Given the description of an element on the screen output the (x, y) to click on. 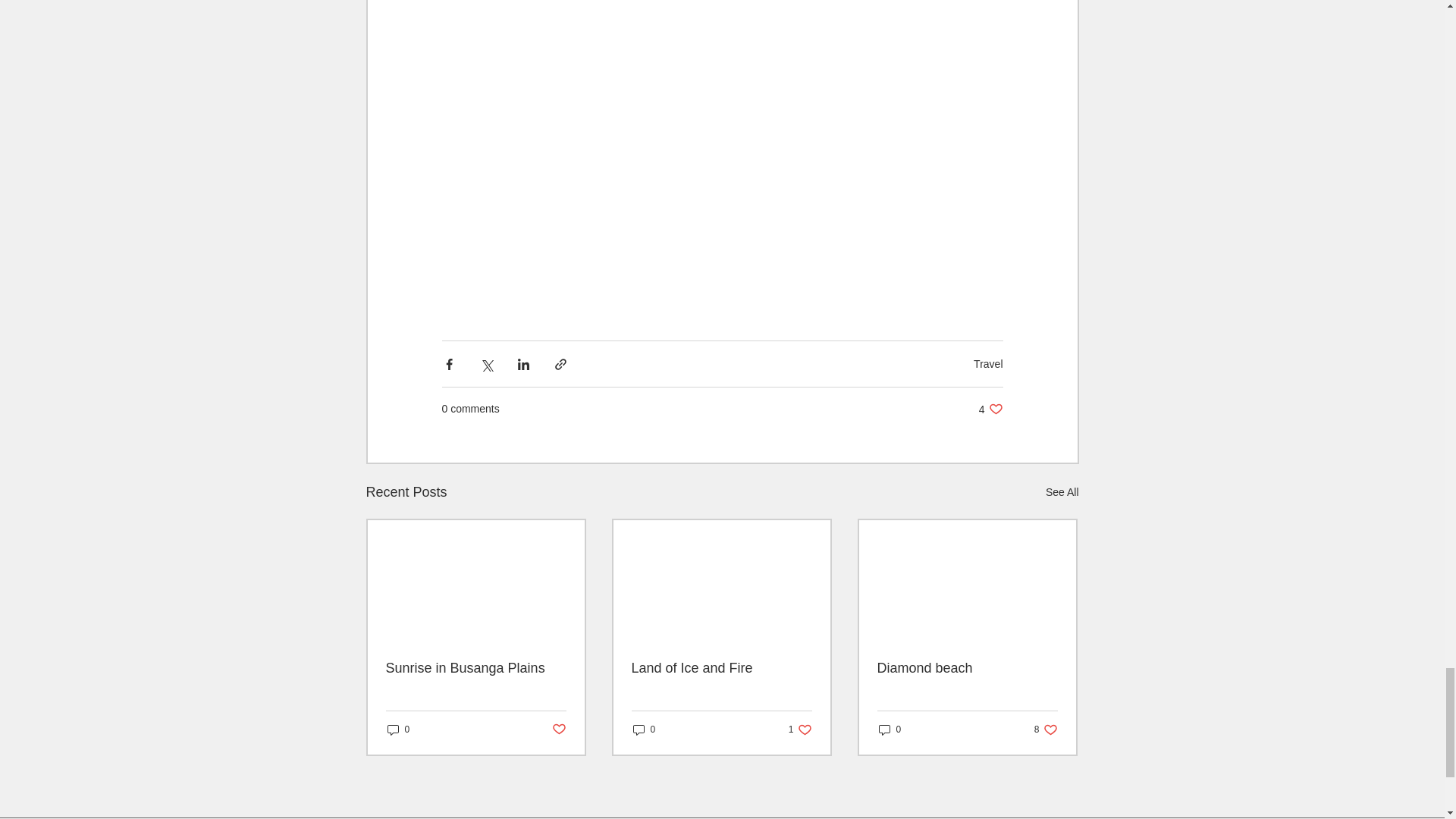
0 (1045, 729)
See All (800, 729)
0 (889, 729)
Post not marked as liked (1061, 492)
Sunrise in Busanga Plains (643, 729)
0 (990, 409)
Land of Ice and Fire (558, 729)
Travel (475, 668)
Diamond beach (397, 729)
